Given the description of an element on the screen output the (x, y) to click on. 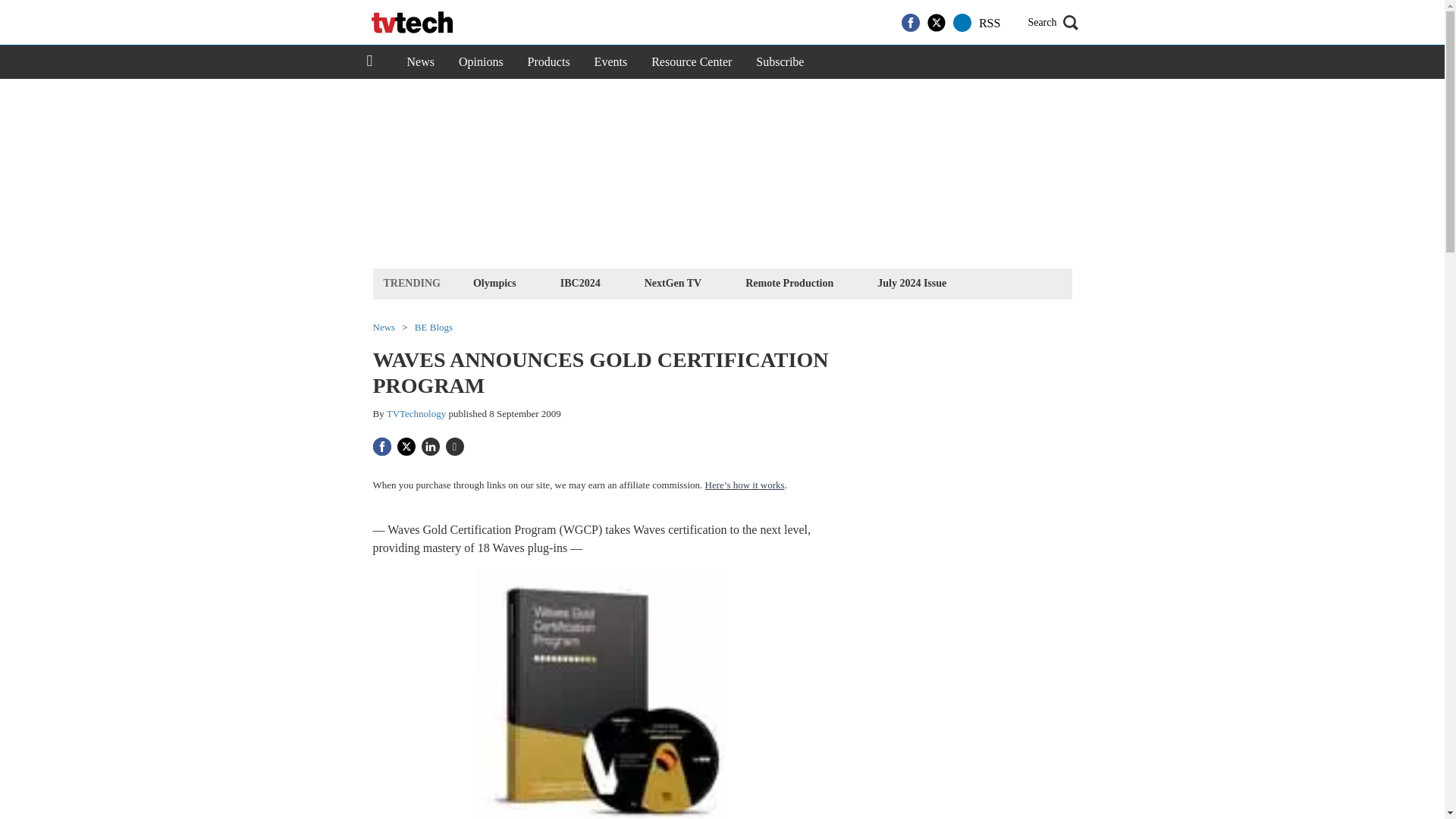
Opinions (480, 61)
NextGen TV (673, 282)
July 2024 Issue (912, 282)
Remote Production (788, 282)
Resource Center (691, 61)
IBC2024 (579, 282)
Events (611, 61)
TVTechnology (416, 413)
Olympics (494, 282)
BE Blogs (433, 327)
Products (548, 61)
Subscribe (779, 61)
RSS (989, 22)
News (419, 61)
